Given the description of an element on the screen output the (x, y) to click on. 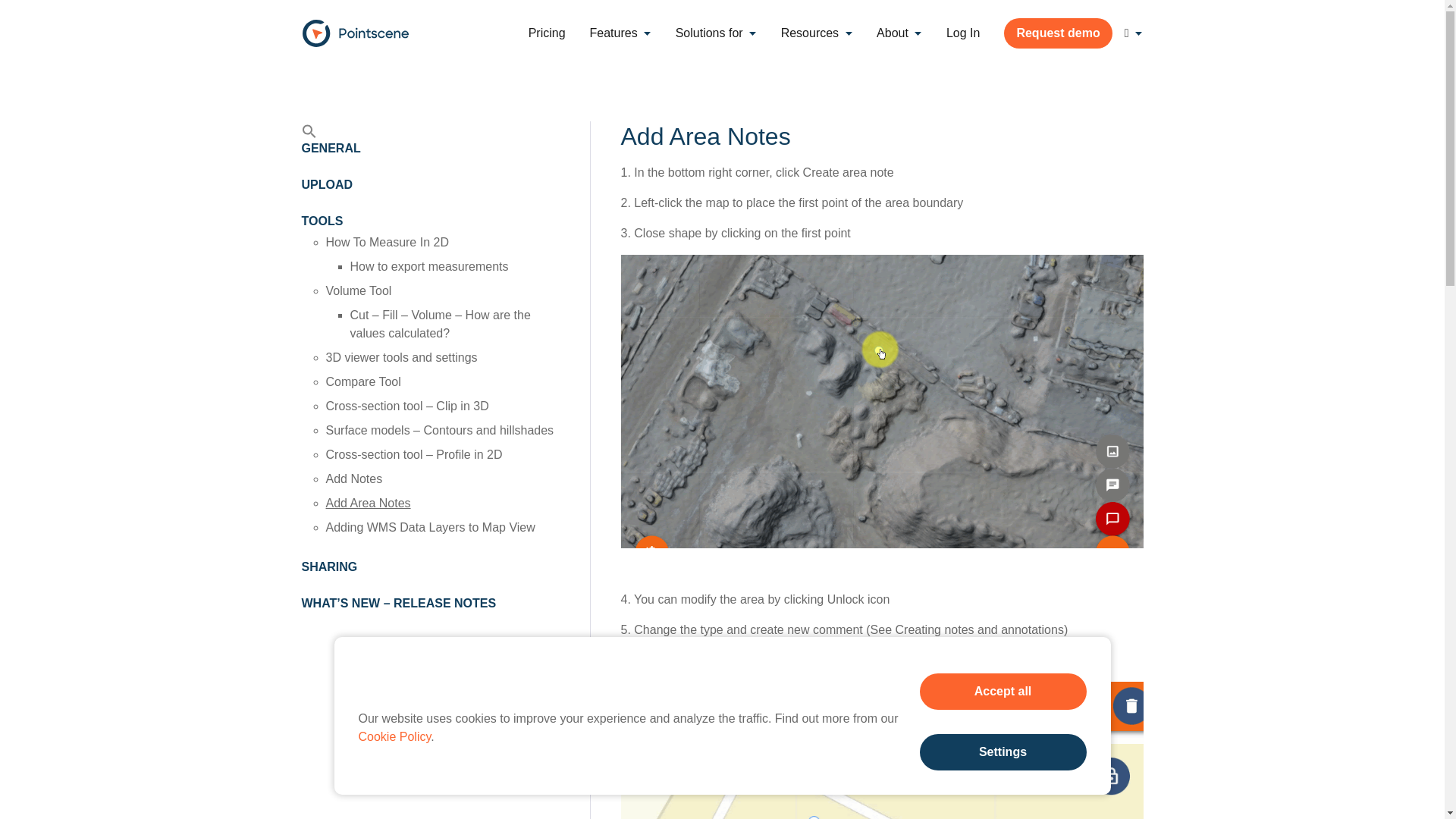
About (899, 33)
Resources (816, 33)
Request demo (1058, 33)
Pricing (547, 33)
Features (620, 33)
Log In (962, 33)
Solutions for (715, 33)
